Given the description of an element on the screen output the (x, y) to click on. 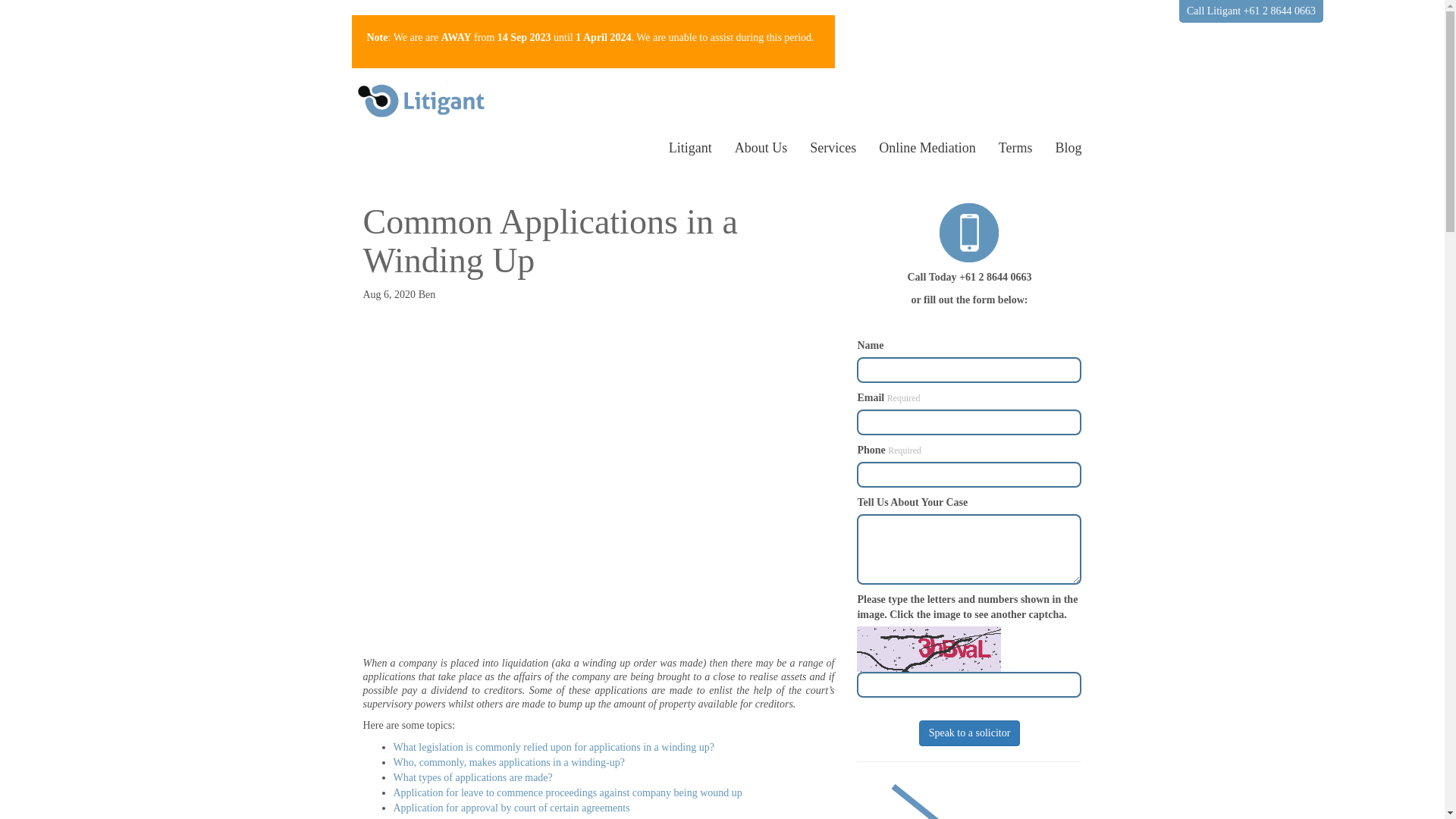
Services Element type: text (832, 147)
What types of applications are made? Element type: text (472, 777)
Terms Element type: text (1015, 147)
Who, commonly, makes applications in a winding-up? Element type: text (508, 762)
Speak to a solicitor Element type: text (969, 733)
Blog Element type: text (1067, 147)
Online Mediation Element type: text (926, 147)
Application for approval by court of certain agreements Element type: text (510, 807)
About Us Element type: text (761, 147)
Litigant Element type: text (690, 147)
